Given the description of an element on the screen output the (x, y) to click on. 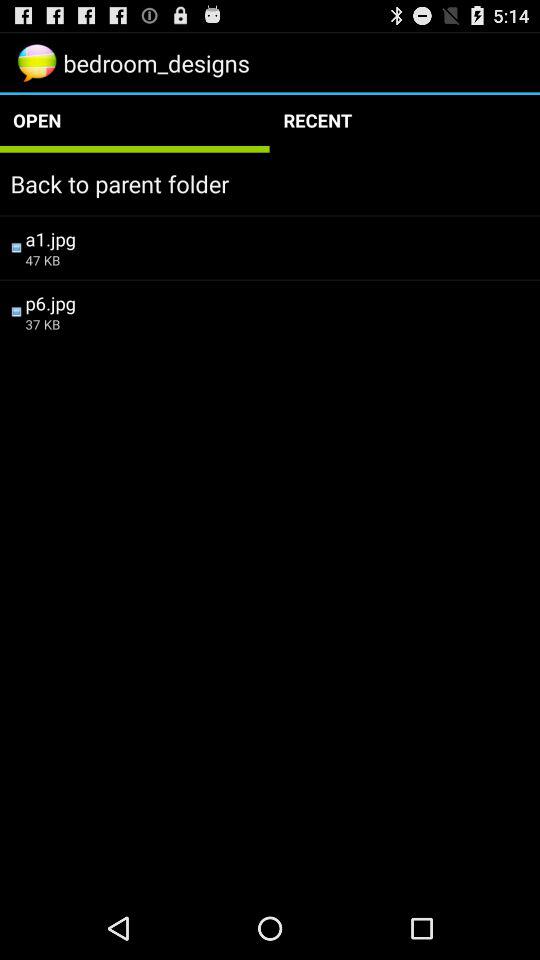
open the back to parent (270, 183)
